Given the description of an element on the screen output the (x, y) to click on. 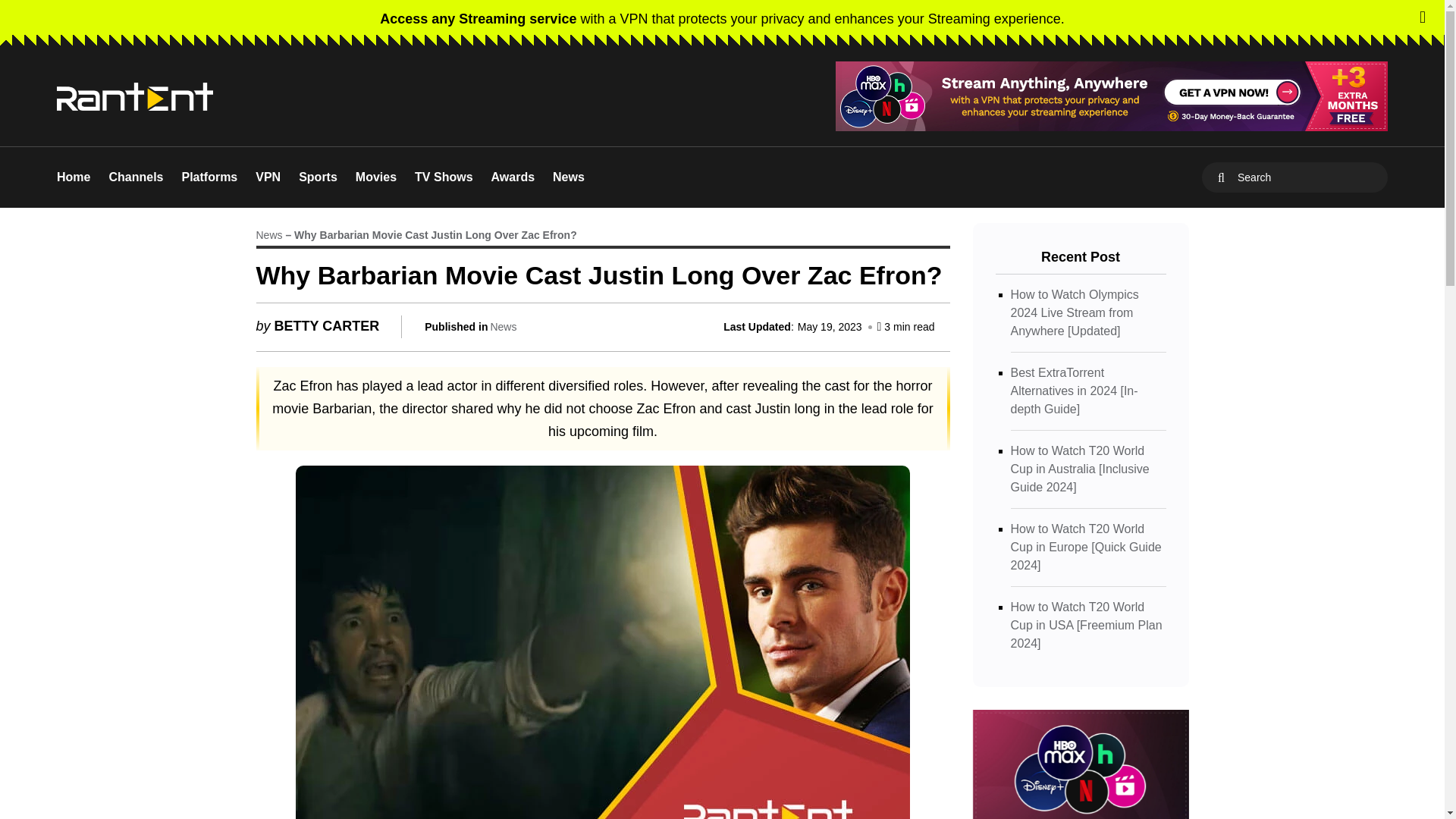
ExpressVPN Exclusive Deal (722, 18)
Channels (135, 177)
ExpressVPN Deals (1080, 764)
Platforms (208, 177)
TV Shows (442, 177)
ExpressVPN Exclusive Deal (1111, 95)
ExpressVPN Exclusive Deal (1111, 96)
